Given the description of an element on the screen output the (x, y) to click on. 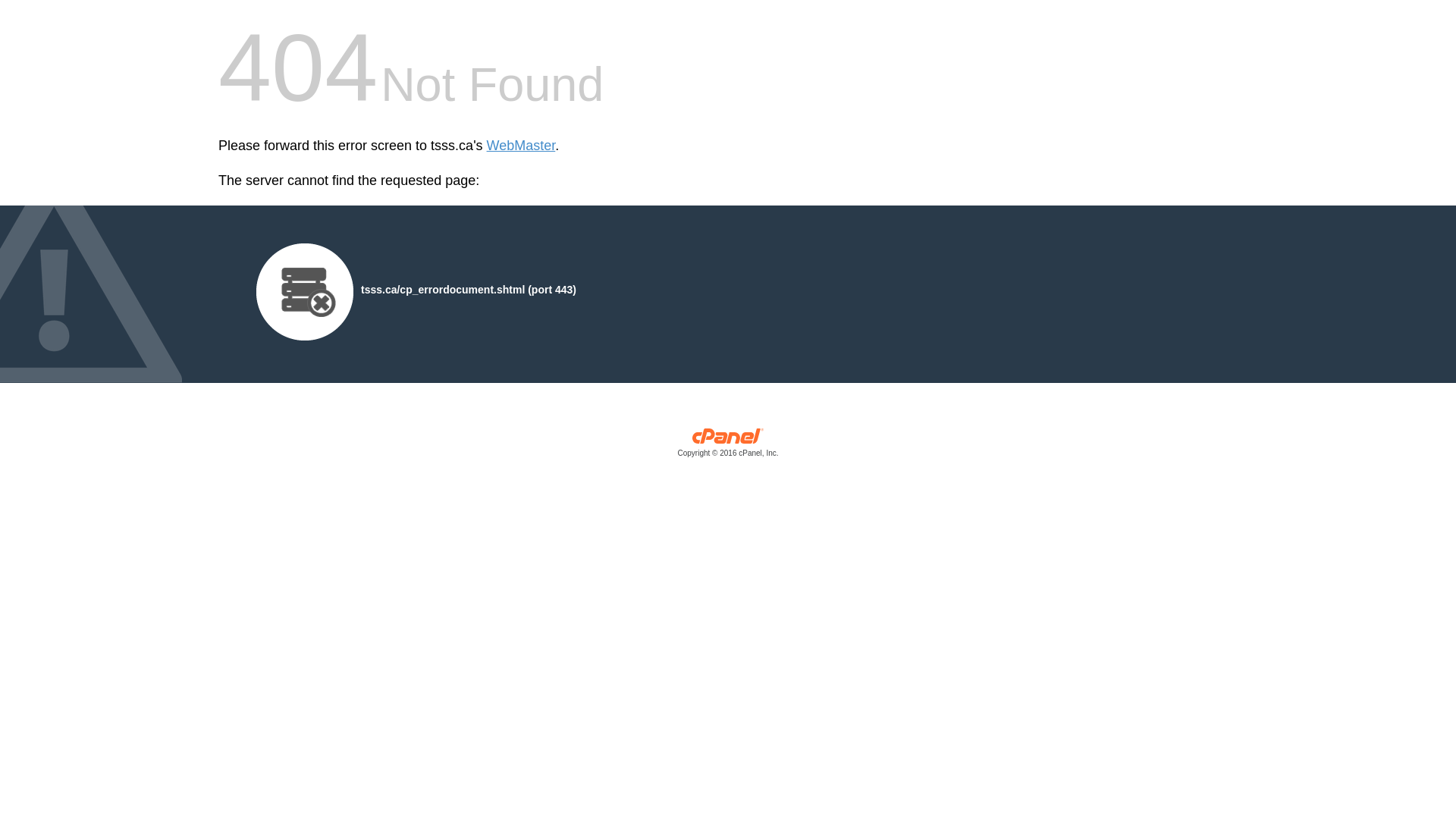
WebMaster (521, 145)
cPanel, Inc. (727, 446)
